Given the description of an element on the screen output the (x, y) to click on. 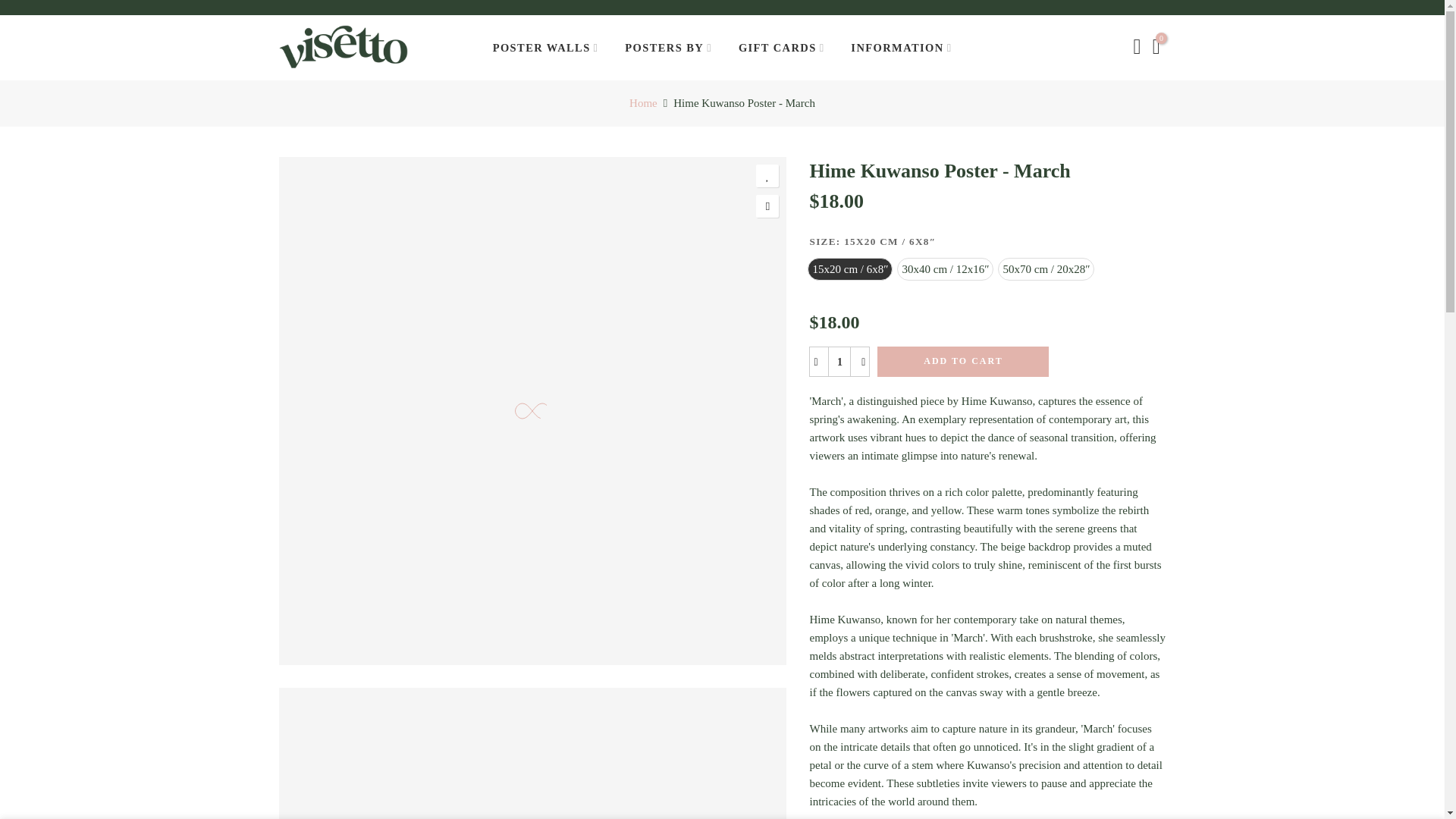
POSTER WALLS (545, 47)
GIFT CARDS (781, 47)
INFORMATION (901, 47)
POSTERS BY (668, 47)
